Given the description of an element on the screen output the (x, y) to click on. 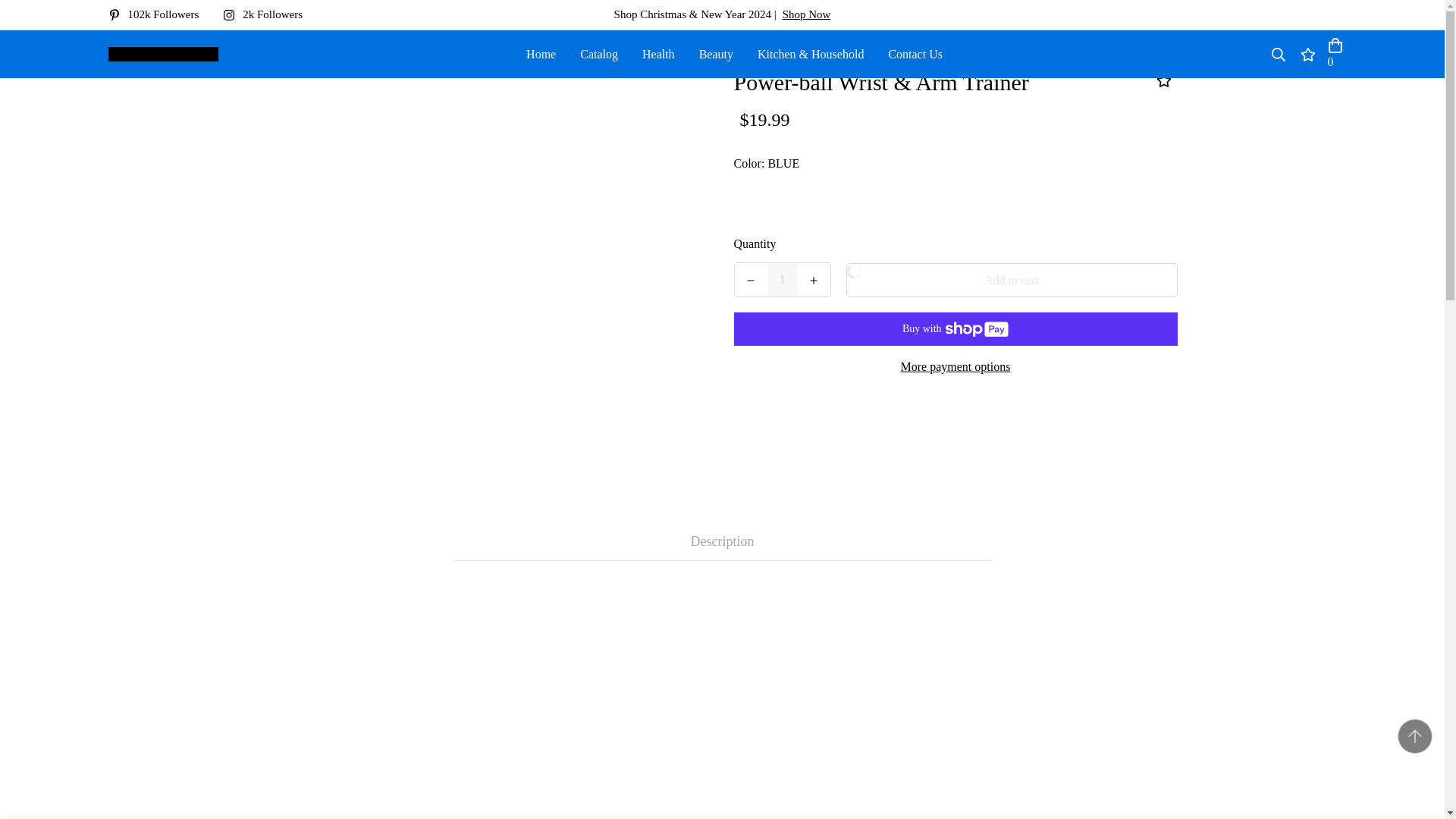
Catalog (598, 53)
Beauty (716, 53)
1 (782, 279)
Home (540, 53)
Health (658, 53)
Contact Us (915, 53)
2k Followers (268, 14)
Shop Now (807, 14)
102k Followers (158, 14)
